Given the description of an element on the screen output the (x, y) to click on. 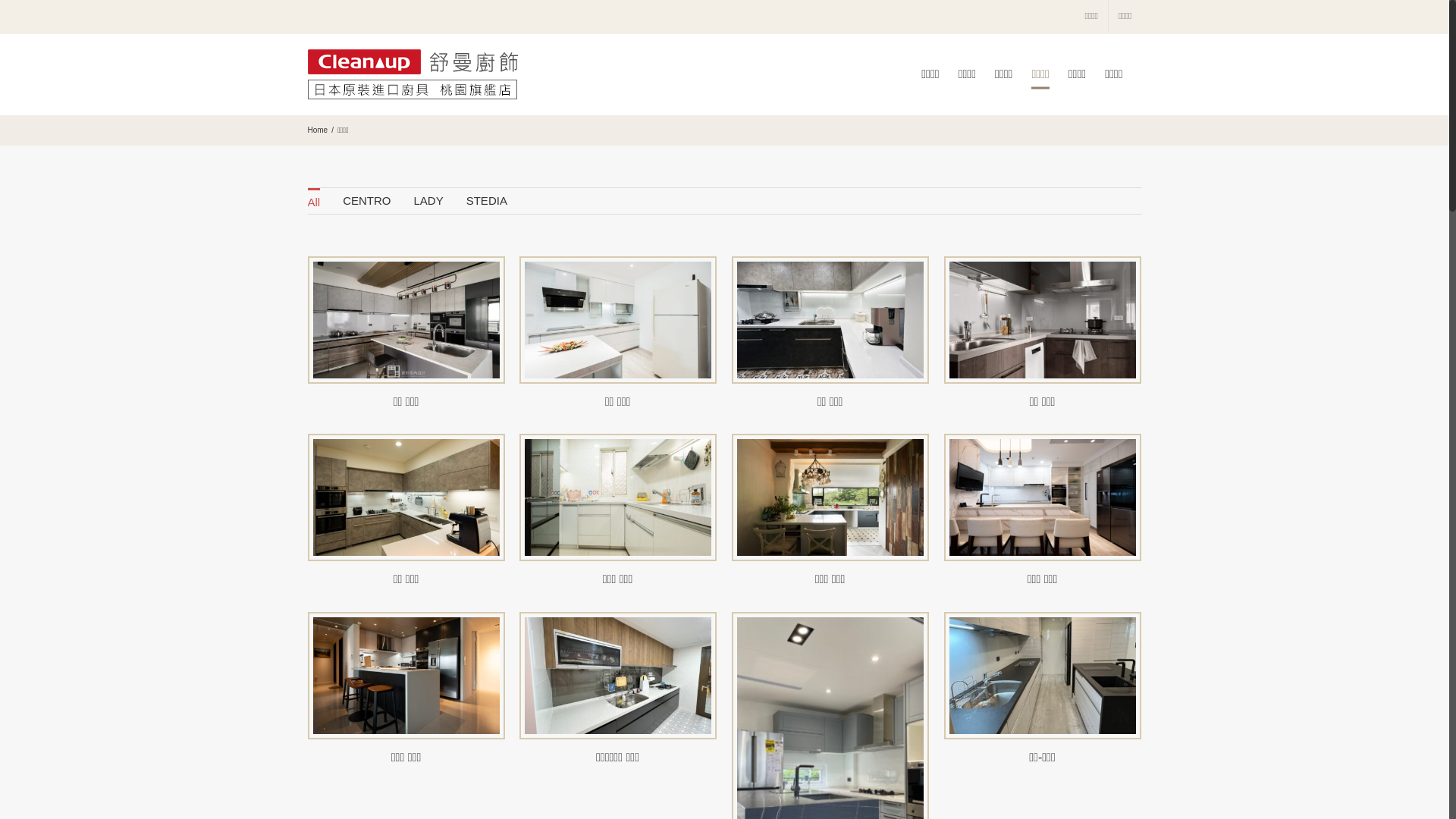
STEDIA Element type: text (486, 200)
All Element type: text (313, 200)
Home Element type: text (317, 129)
CENTRO Element type: text (366, 200)
LADY Element type: text (428, 200)
